Given the description of an element on the screen output the (x, y) to click on. 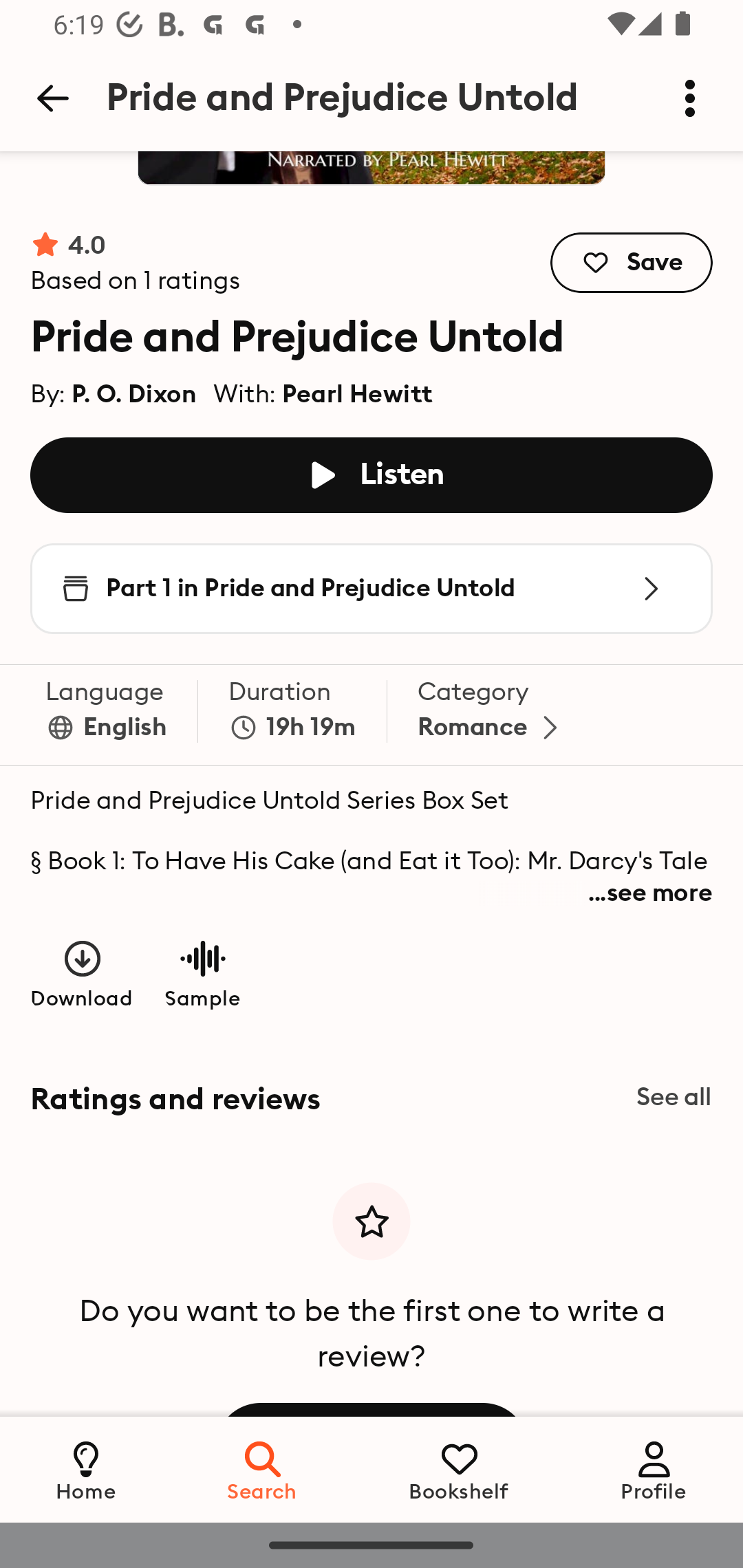
Back (52, 98)
More options (689, 98)
Rating 4.0 stars, out of 1 ratings (135, 262)
Save Save to bookshelf (631, 262)
By: P. O. Dixon (114, 389)
With: Pearl Hewitt (323, 389)
Listen Listen to book (371, 474)
Part 1 in Pride and Prejudice Untold (371, 587)
Category Romance (491, 714)
Download book (82, 973)
Play sample (202, 973)
Ratings and reviews (371, 1100)
Home (85, 1468)
Search (262, 1468)
Bookshelf (458, 1468)
Profile (653, 1468)
